Given the description of an element on the screen output the (x, y) to click on. 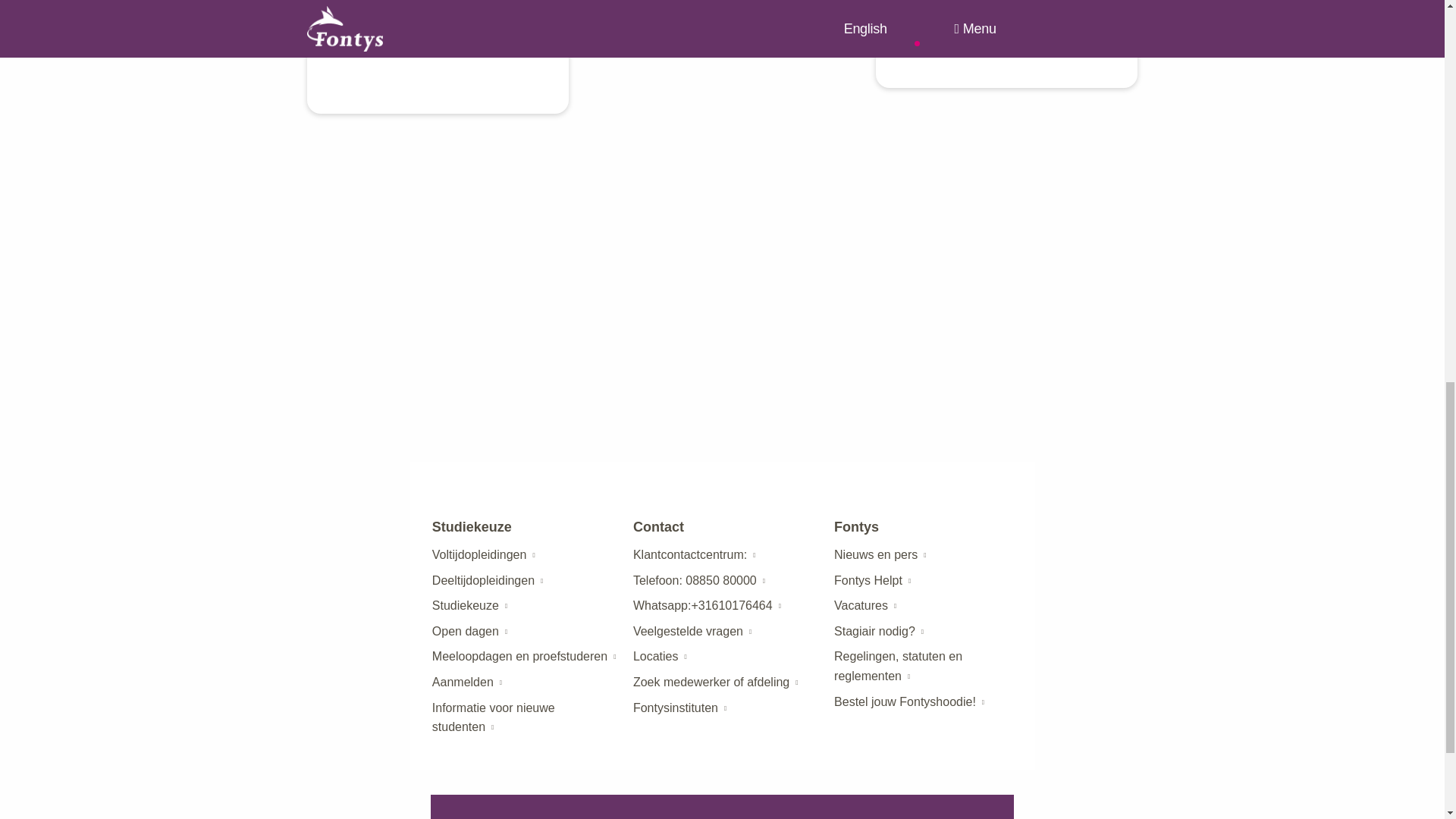
Agenda SKA (519, 656)
Volg ons op Instagram (454, 41)
Hulp bij het kiezen van je opleiding (465, 604)
Open dagen bij Fontys (465, 631)
Goede start bij Fontys (493, 717)
Volg ons op Facebook (413, 41)
Fontys video (1006, 18)
